Given the description of an element on the screen output the (x, y) to click on. 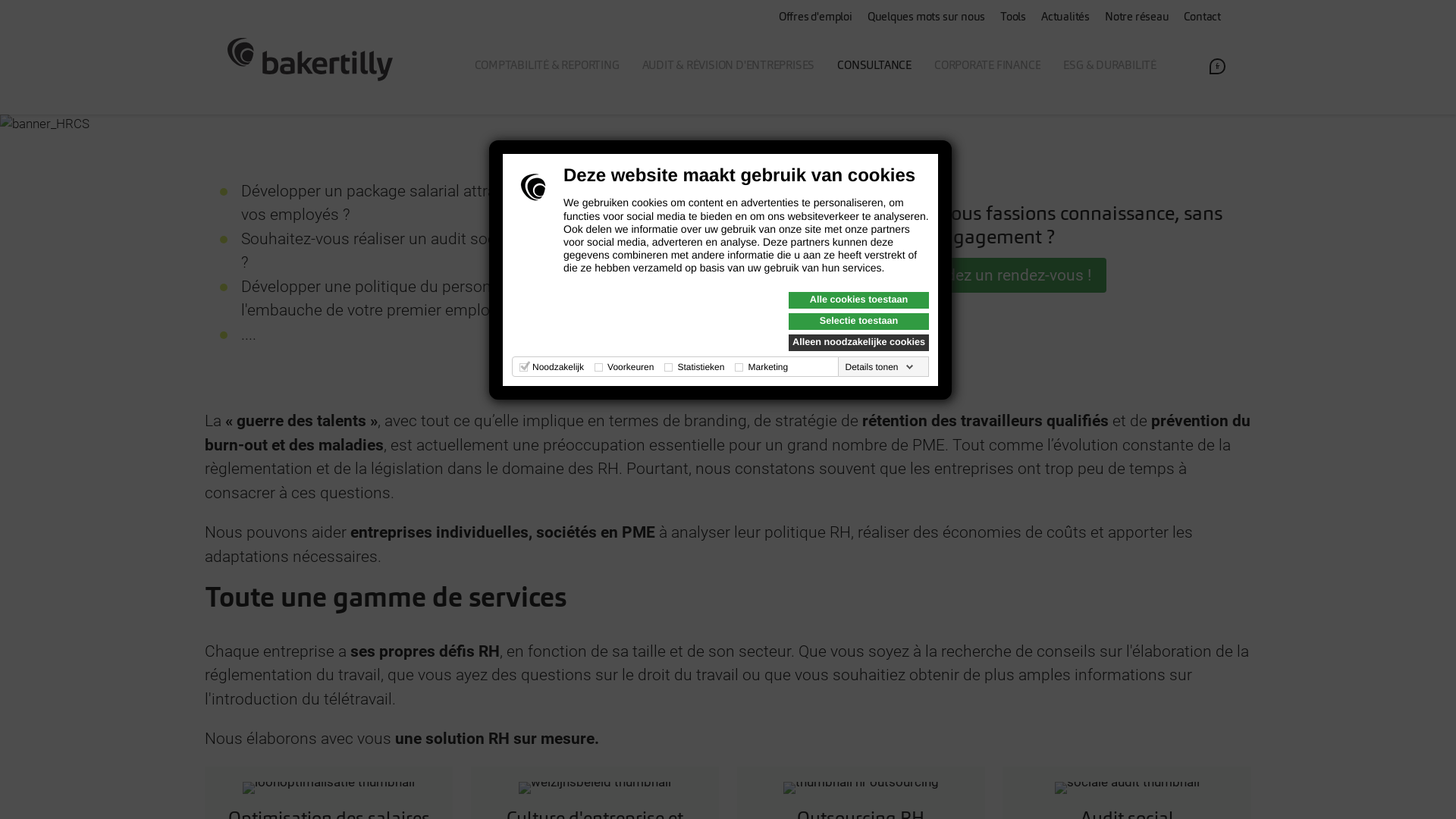
Details tonen Element type: text (878, 366)
Contact Element type: text (1202, 17)
Alle cookies toestaan Element type: text (858, 299)
Alleen noodzakelijke cookies Element type: text (858, 342)
Skip to main content Element type: text (0, 0)
Offres d'emploi Element type: text (815, 17)
CONSULTANCE Element type: text (874, 66)
Tools Element type: text (1012, 17)
Selectie toestaan Element type: text (858, 321)
Quelques mots sur nous Element type: text (925, 17)
CORPORATE FINANCE Element type: text (987, 66)
Search Element type: text (1427, 92)
Demandez un rendez-vous ! Element type: text (993, 274)
